Given the description of an element on the screen output the (x, y) to click on. 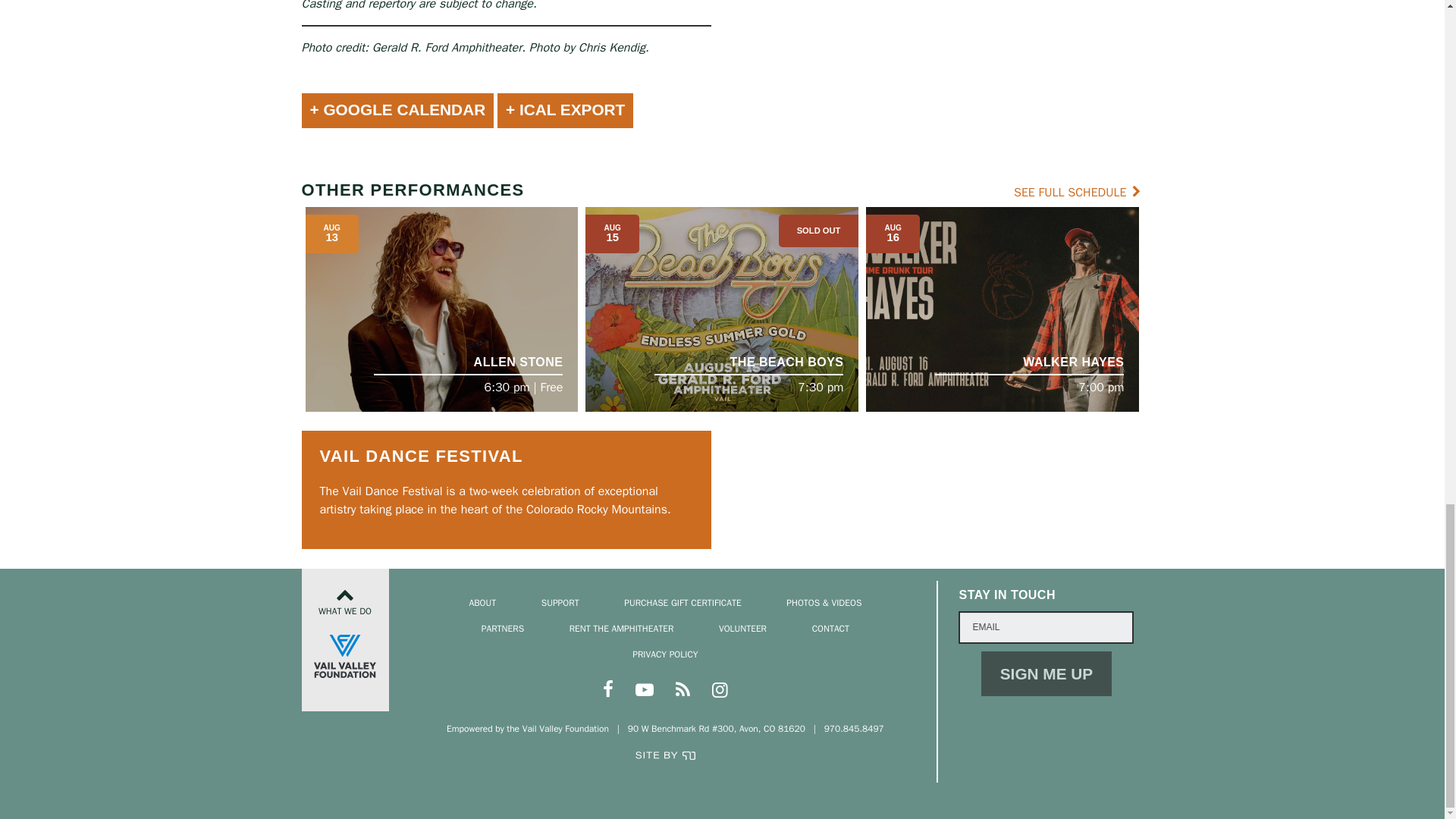
SEE FULL SCHEDULE (1077, 192)
ABOUT (494, 98)
DONATE (565, 98)
BRAVO! VAIL (614, 2)
CONTACT (942, 98)
SUPPORT US (829, 2)
Add to Google Calendar (398, 110)
Download .ics file (565, 110)
HISTORY (829, 14)
RENT THE AMPHITHEATER (817, 98)
